Given the description of an element on the screen output the (x, y) to click on. 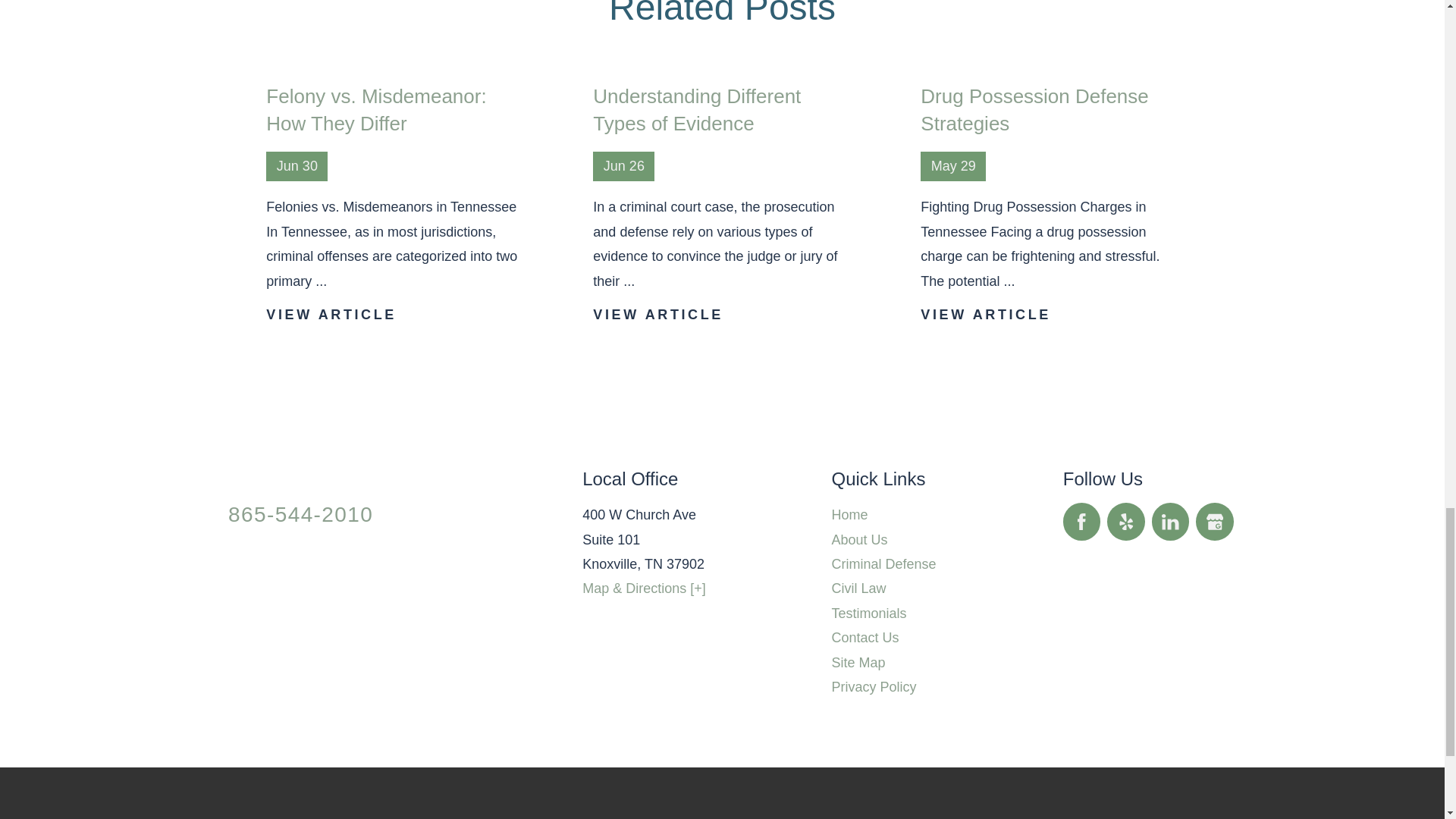
Yelp (1125, 521)
Facebook (1081, 521)
Google Business Profile (1214, 521)
LinkedIn (1170, 521)
